Given the description of an element on the screen output the (x, y) to click on. 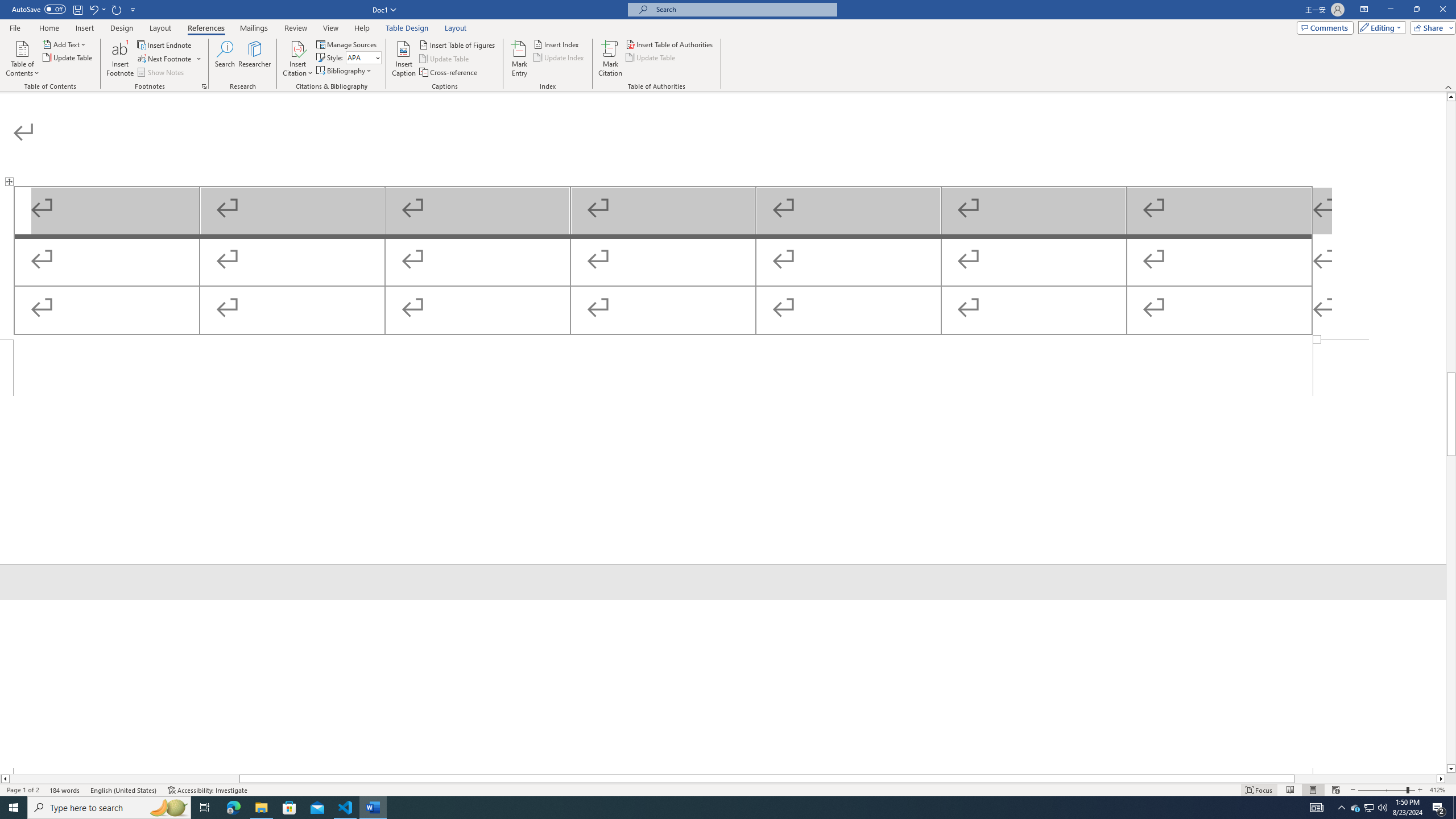
Next Footnote (169, 58)
Update Table... (68, 56)
Insert Table of Figures... (458, 44)
Undo Outline Move Up (96, 9)
Show Notes (161, 72)
Cross-reference... (448, 72)
Footer -Section 1- (722, 452)
Style (360, 57)
Manage Sources... (347, 44)
Insert Endnote (165, 44)
Insert Footnote (119, 58)
Page down (1450, 610)
